Given the description of an element on the screen output the (x, y) to click on. 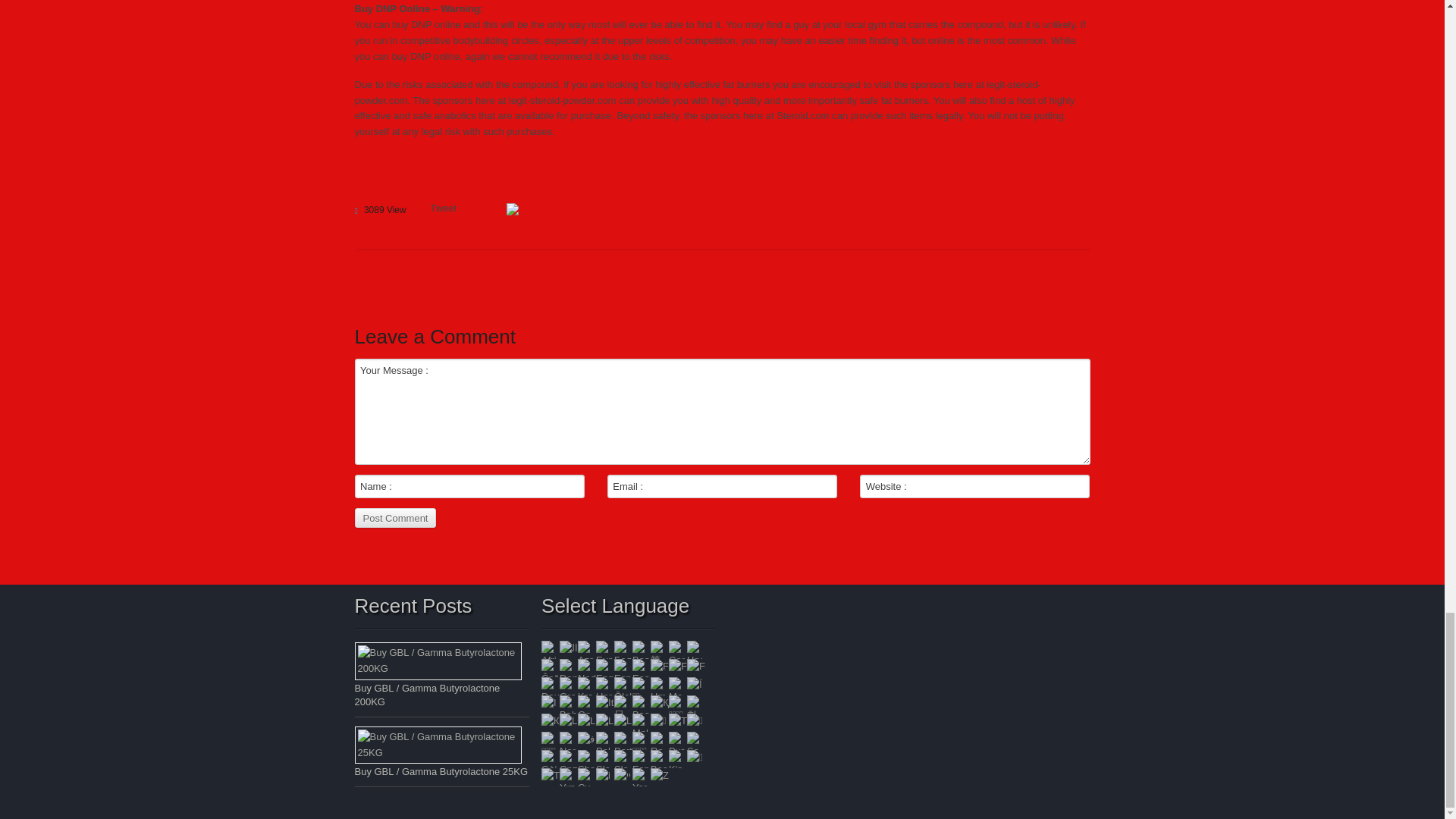
Email : (722, 486)
Name : (470, 486)
Afrikaans (550, 649)
Email : (722, 486)
Website : (974, 486)
Name : (470, 486)
Post Comment (395, 517)
Website : (974, 486)
Euskara (604, 649)
Your Message : (722, 411)
